Given the description of an element on the screen output the (x, y) to click on. 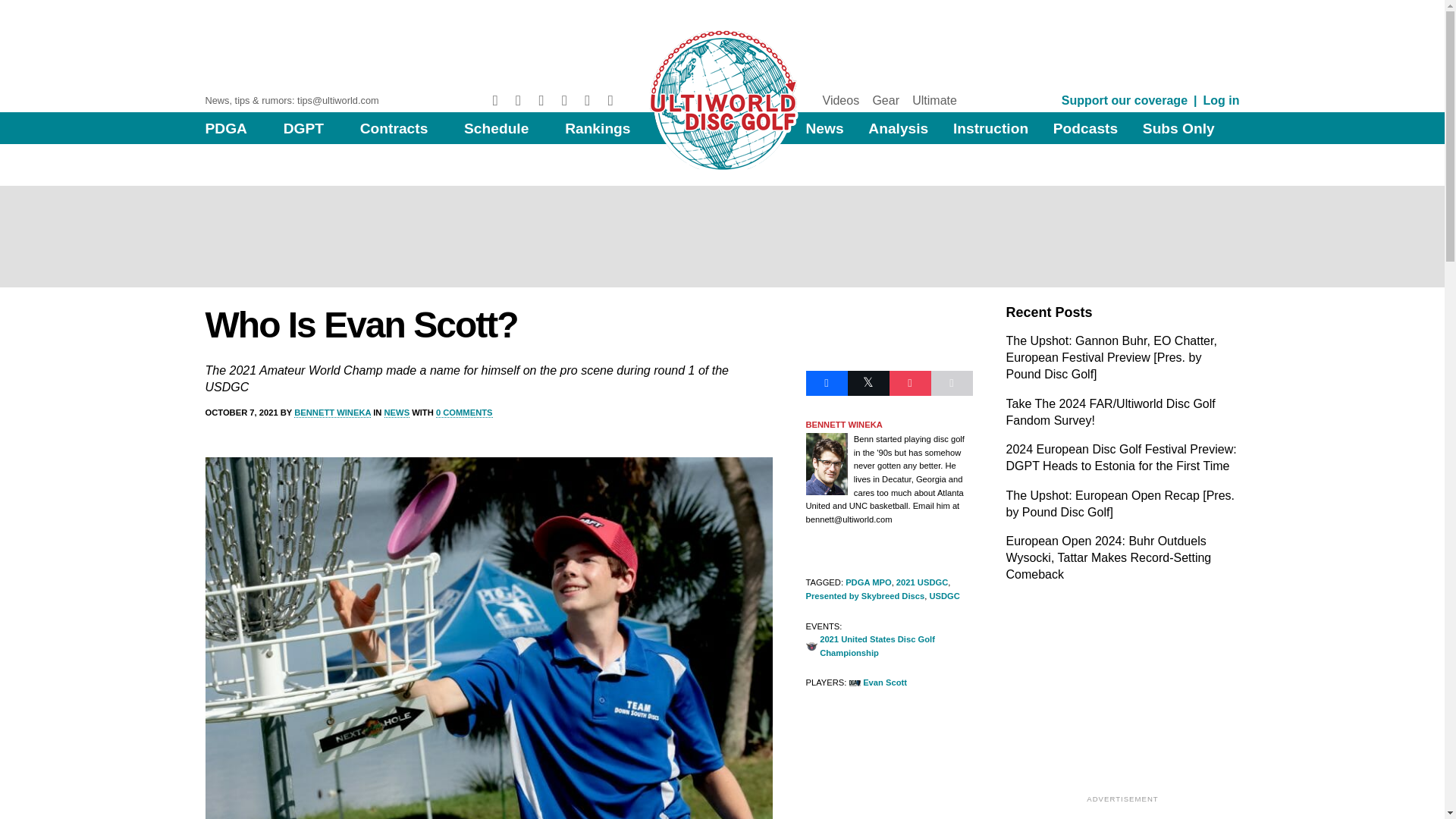
Subs Only (1178, 128)
Support our coverage (1124, 100)
Gear (885, 100)
DGPT (303, 128)
Podcasts (1085, 128)
PDGA (225, 128)
Schedule (496, 128)
Rankings (597, 128)
Contracts (393, 128)
Evan Scott's primary disc sponsor is DGA. (877, 683)
View all posts by Bennett Wineka (332, 412)
Analysis (897, 128)
Ultimate (934, 100)
News (824, 128)
Instruction (990, 128)
